Given the description of an element on the screen output the (x, y) to click on. 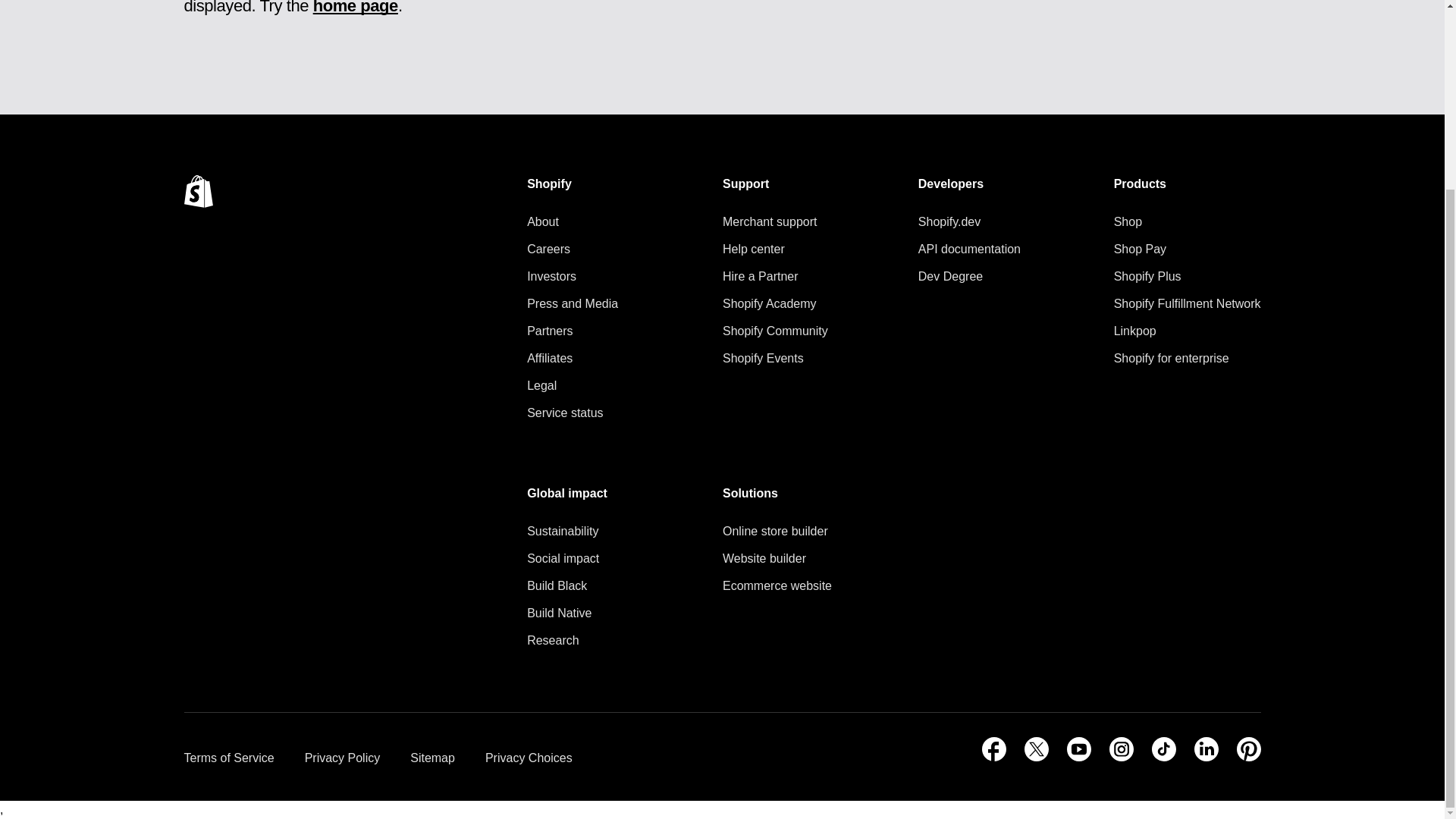
Social impact (567, 558)
Dev Degree (969, 276)
Affiliates (572, 358)
About (572, 221)
Research (567, 640)
Careers (572, 249)
Shopify Fulfillment Network (1186, 303)
Sustainability (567, 531)
home page (355, 7)
Shopify Events (775, 358)
